Given the description of an element on the screen output the (x, y) to click on. 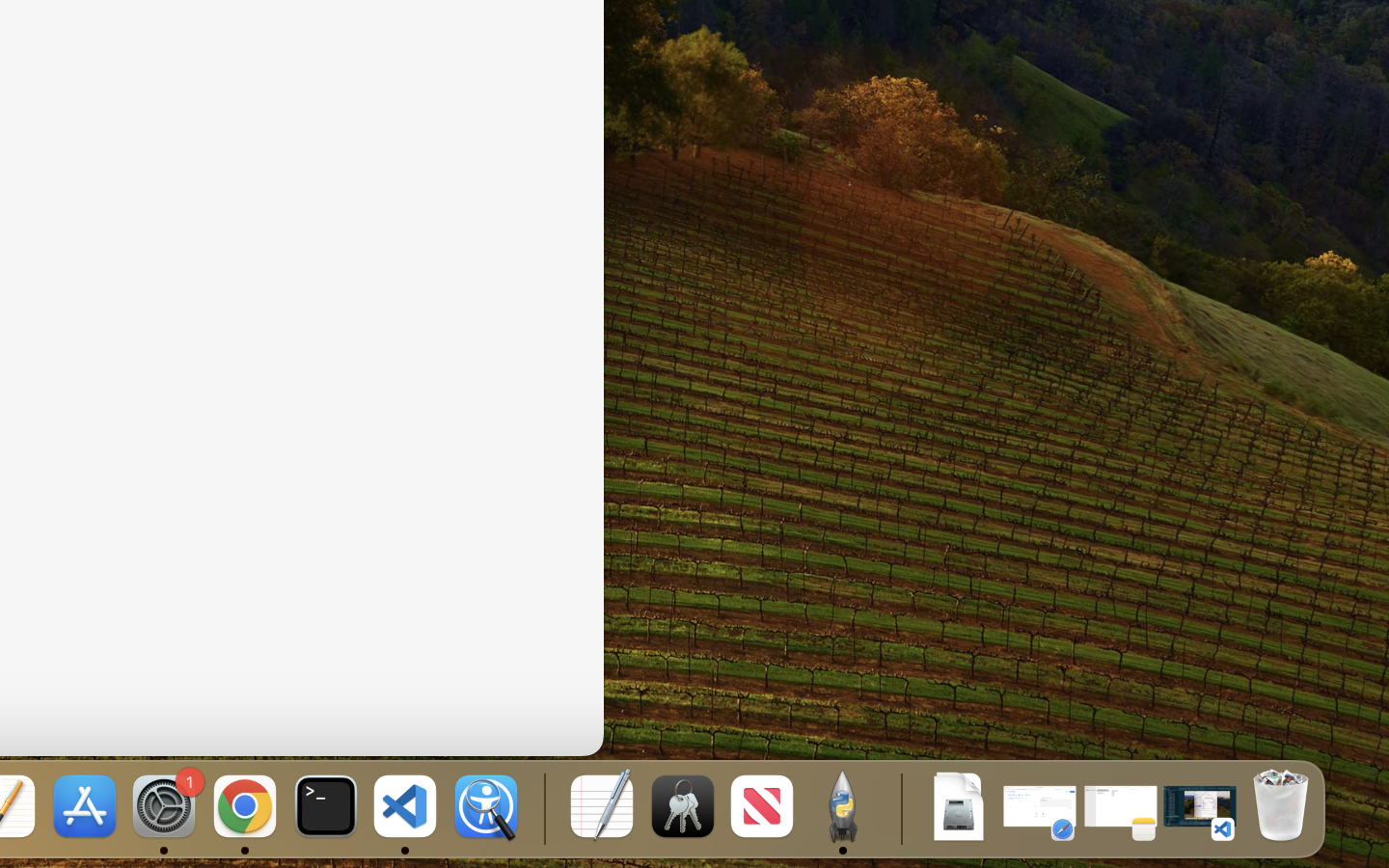
0.4285714328289032 Element type: AXDockItem (541, 807)
